Given the description of an element on the screen output the (x, y) to click on. 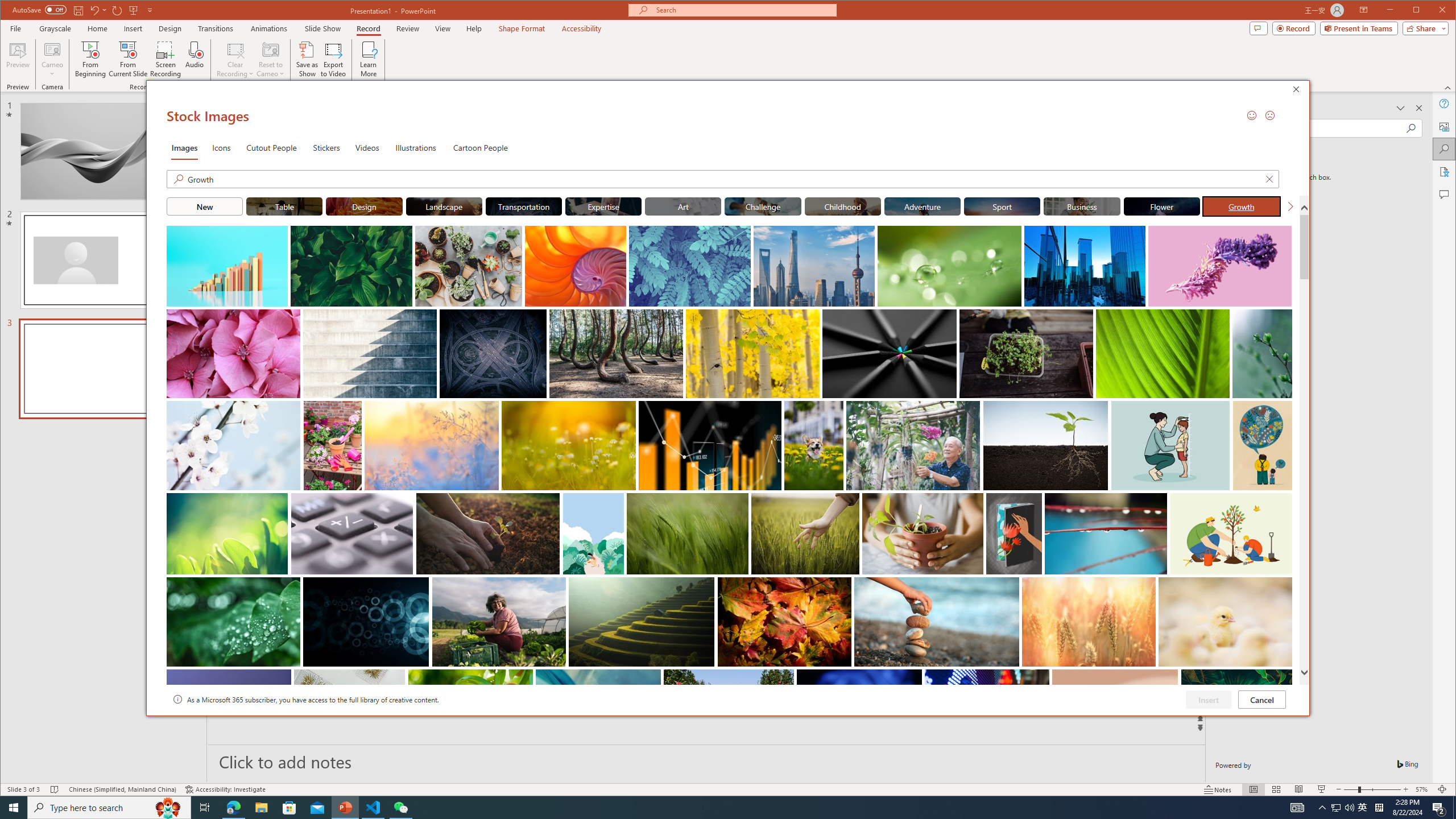
Show desktop (1454, 807)
Q2790: 100% (1349, 807)
Help (1444, 102)
Close pane (1418, 107)
"Landscape" Stock Images. (443, 206)
Alt Text (1444, 125)
Microsoft search (742, 10)
Zoom In (1405, 789)
Slide Sorter (1276, 789)
Zoom Out (1350, 789)
Videos (367, 147)
